Given the description of an element on the screen output the (x, y) to click on. 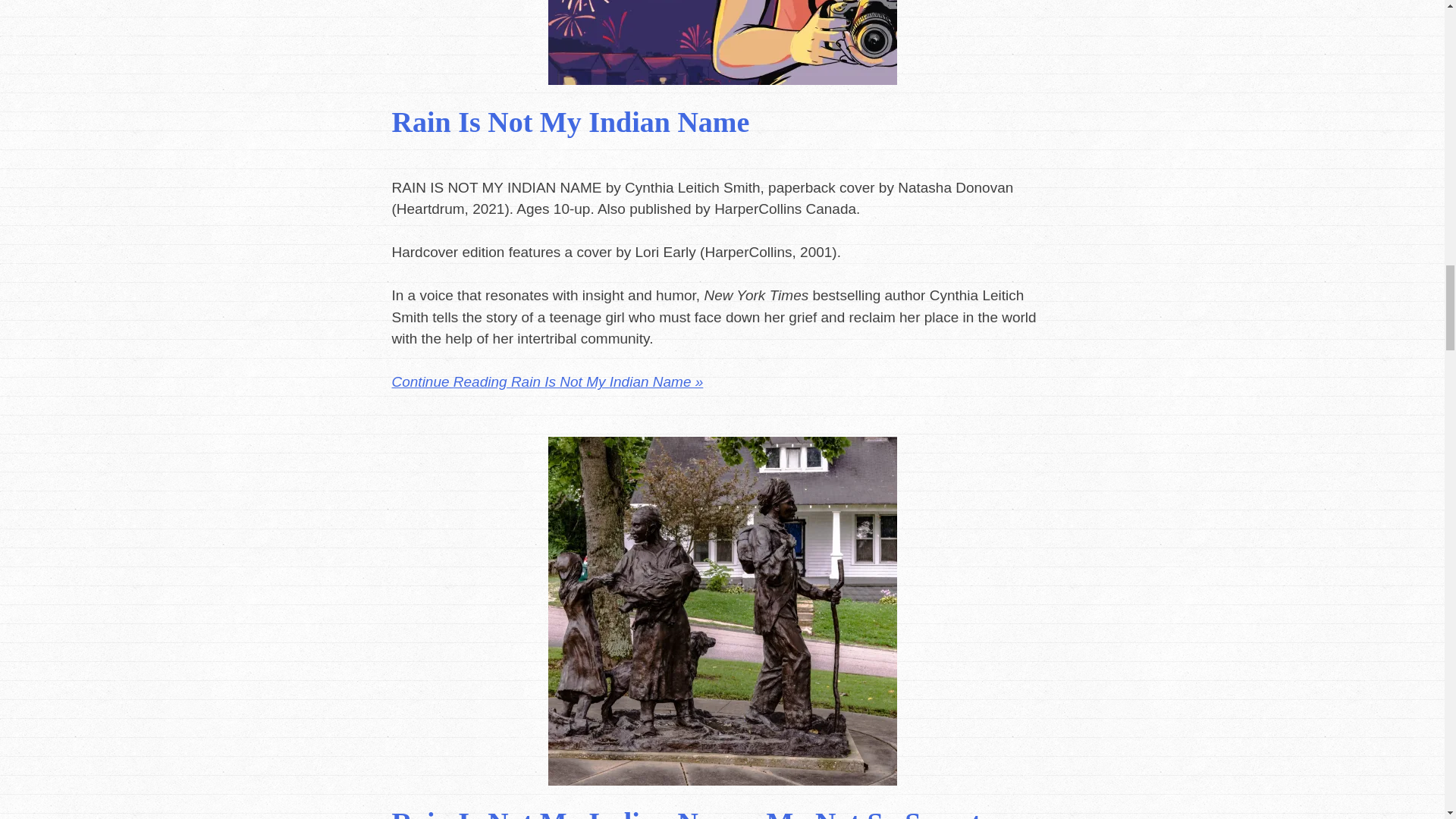
Rain Is Not My Indian Name: My Not So Secret Secret Identity (685, 812)
Rain Is Not My Indian Name (570, 122)
